Given the description of an element on the screen output the (x, y) to click on. 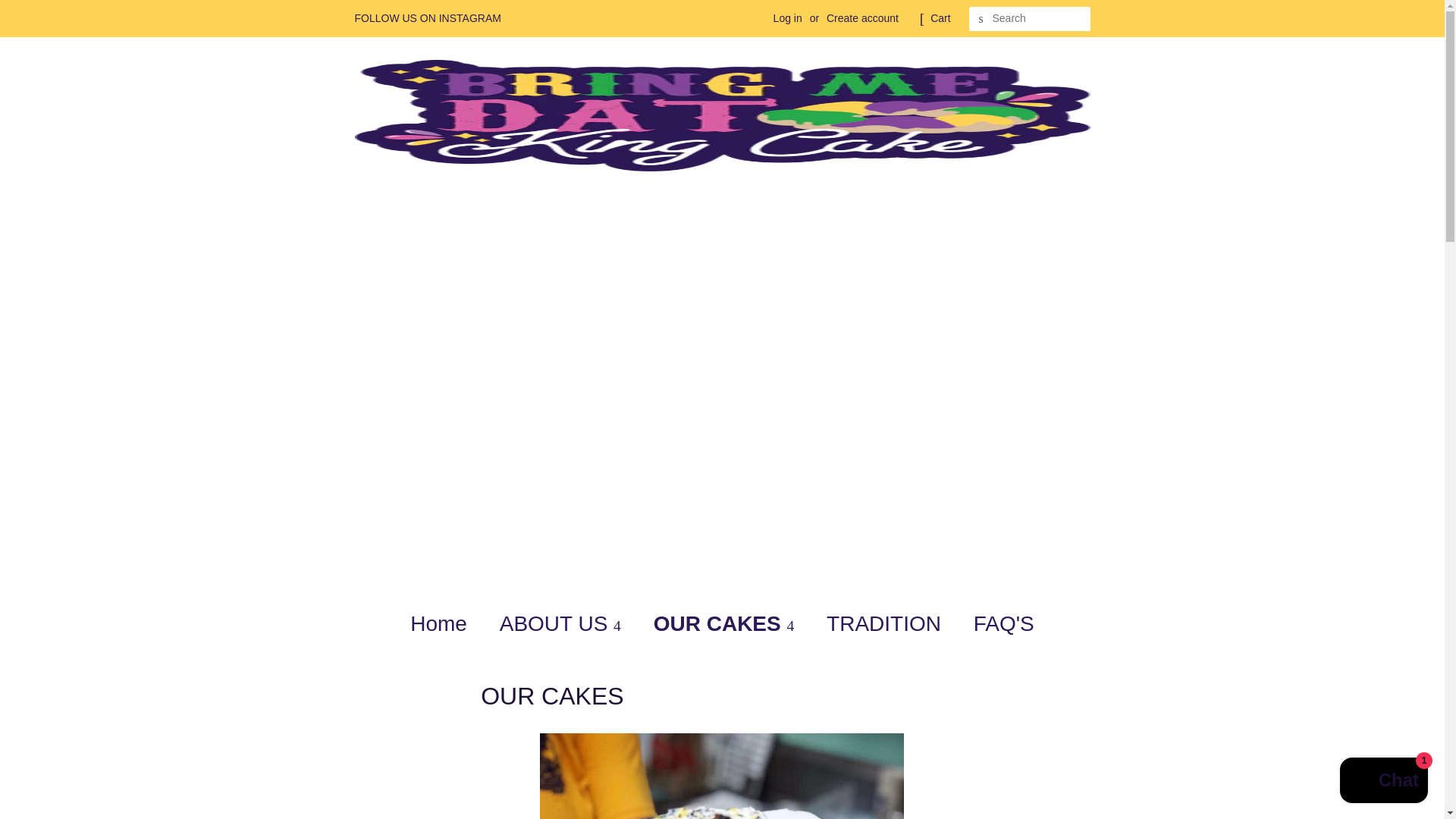
Shopify online store chat (1383, 781)
Cart (940, 18)
Home (445, 623)
OUR CAKES (725, 623)
FAQ'S (997, 623)
Log in (787, 18)
TRADITION (885, 623)
Create account (862, 18)
Search (980, 18)
ABOUT US (561, 623)
